Given the description of an element on the screen output the (x, y) to click on. 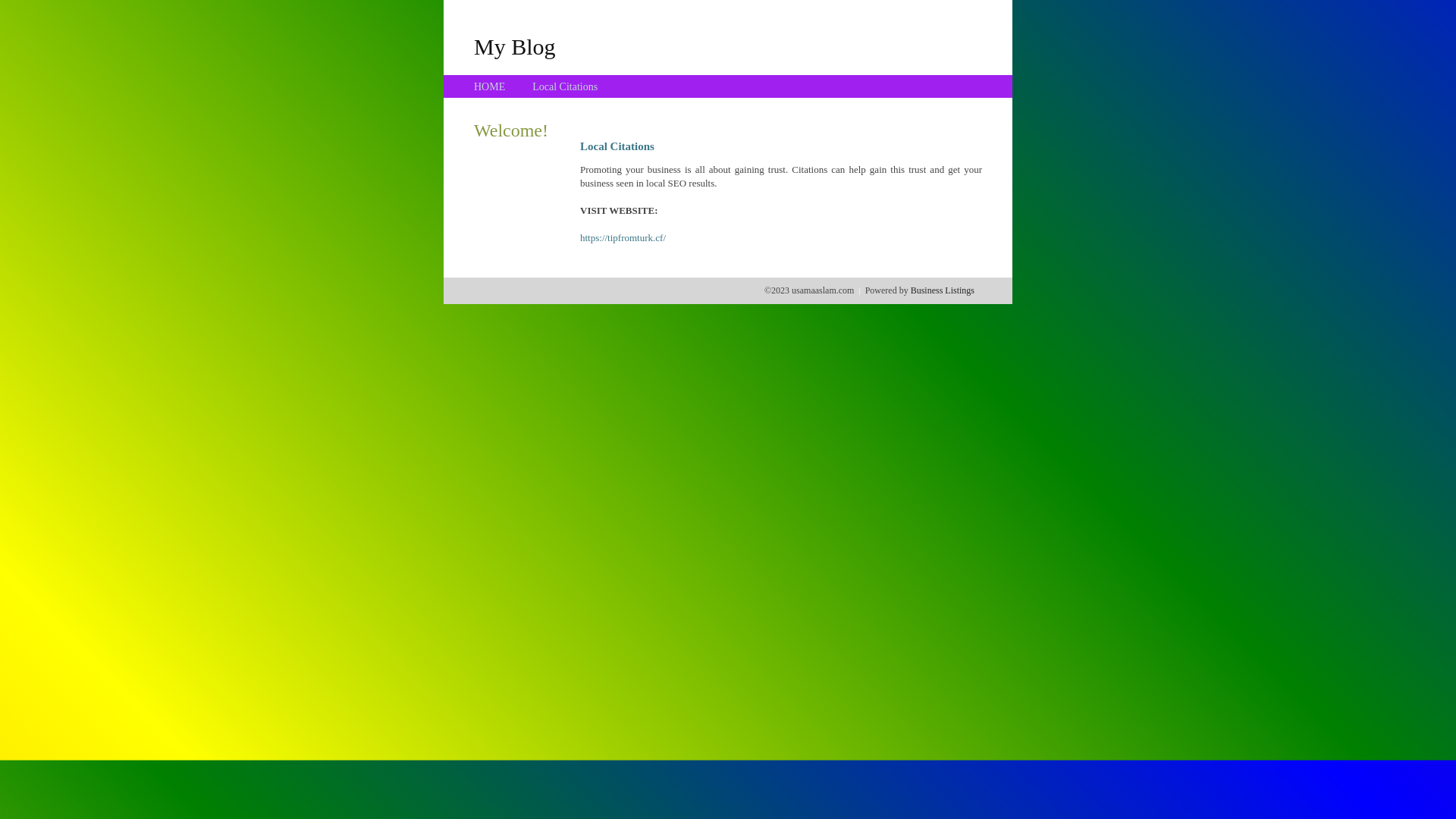
https://tipfromturk.cf/ Element type: text (622, 237)
Business Listings Element type: text (942, 290)
Local Citations Element type: text (564, 86)
My Blog Element type: text (514, 46)
HOME Element type: text (489, 86)
